Given the description of an element on the screen output the (x, y) to click on. 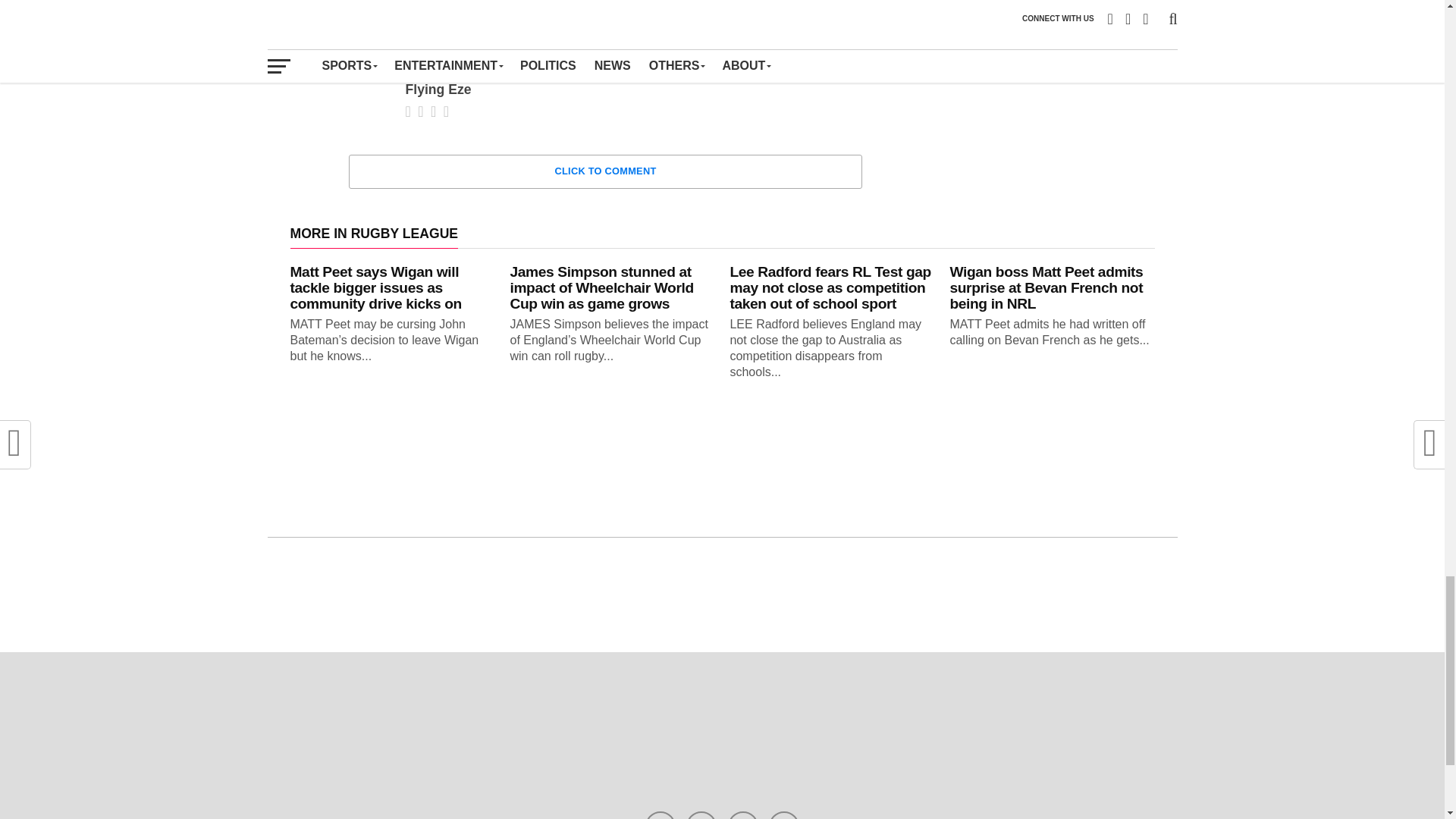
Posts by Flying Eze (437, 89)
